Given the description of an element on the screen output the (x, y) to click on. 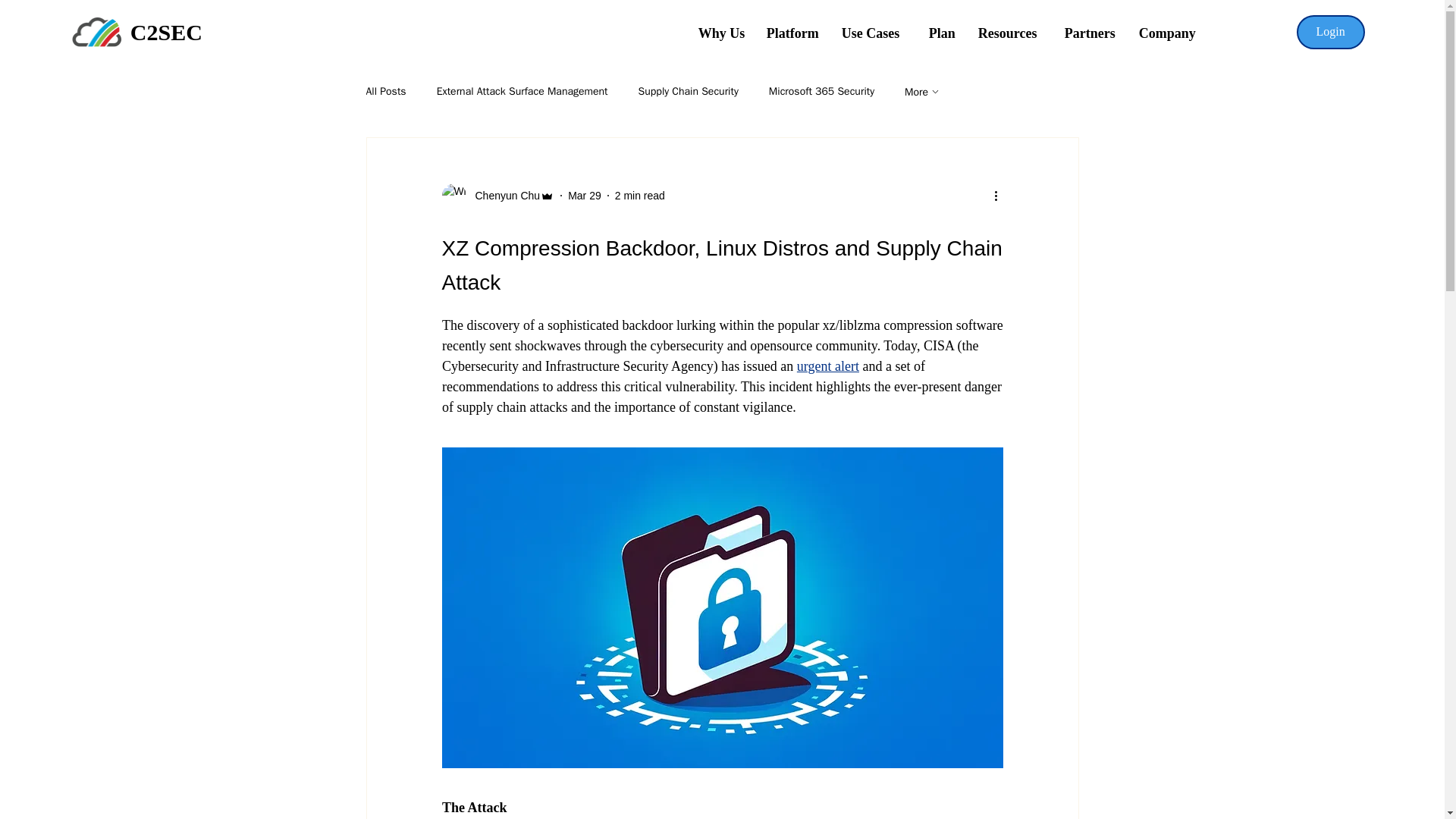
All Posts (385, 91)
Chenyun Chu (502, 195)
Login (1331, 32)
Partners (1089, 33)
2 min read (639, 195)
C2SEC (166, 32)
External Attack Surface Management (522, 91)
urgent alert (827, 365)
Why Us (721, 33)
Use Cases (873, 33)
